Given the description of an element on the screen output the (x, y) to click on. 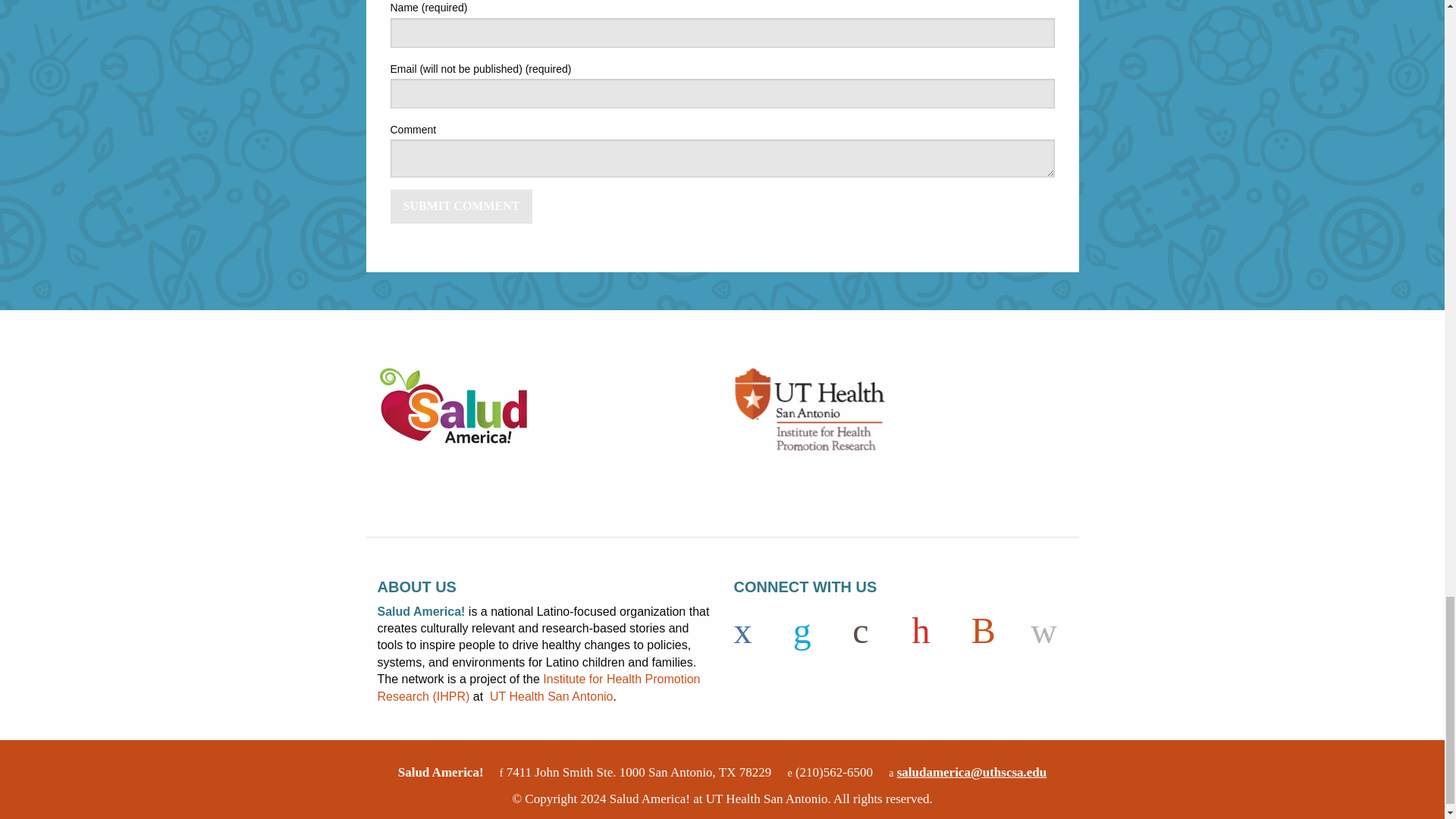
Submit Comment (461, 206)
